Given the description of an element on the screen output the (x, y) to click on. 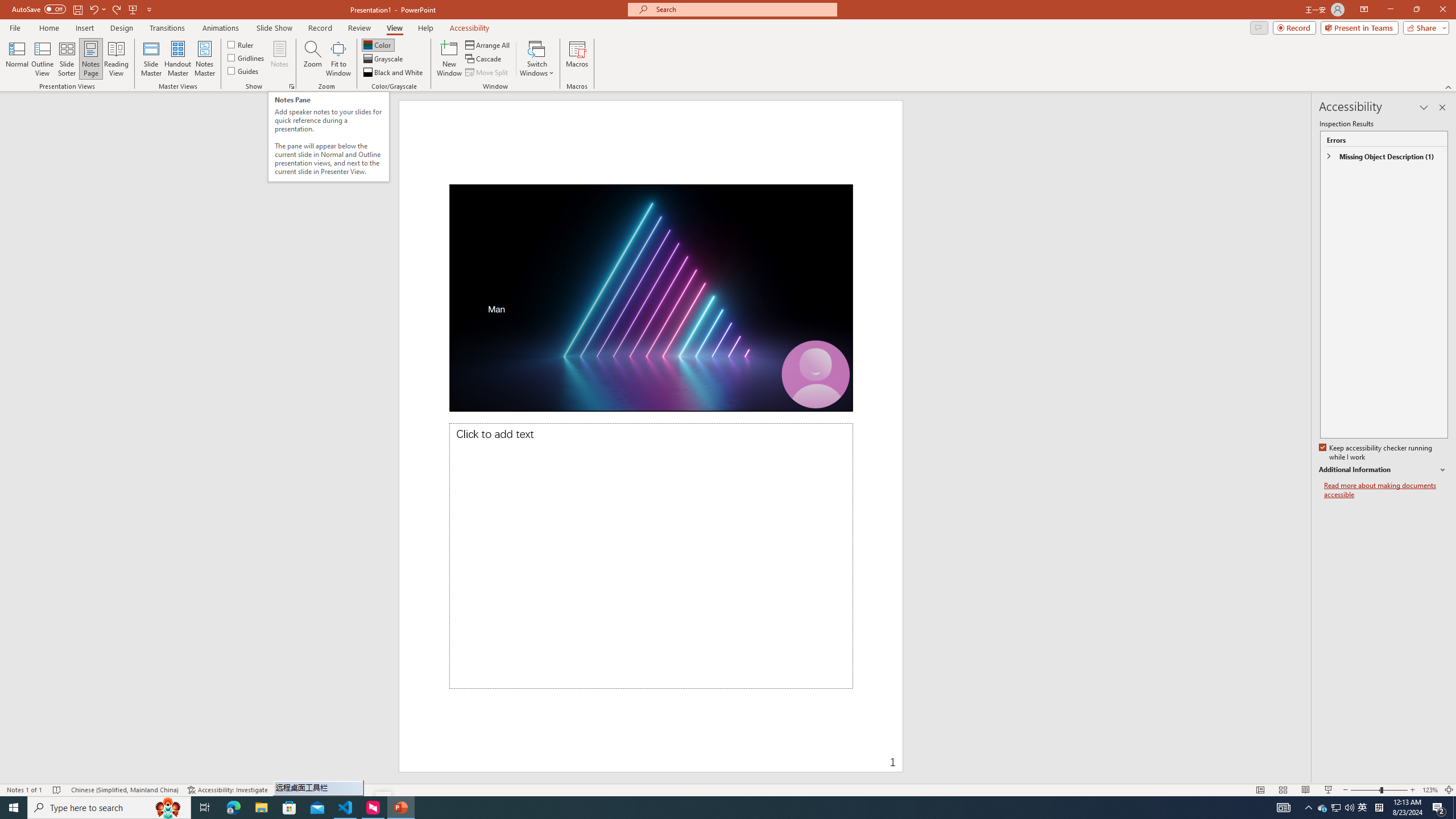
Gridlines (246, 56)
Black and White (393, 72)
New Window (449, 58)
Slide Master (151, 58)
